Given the description of an element on the screen output the (x, y) to click on. 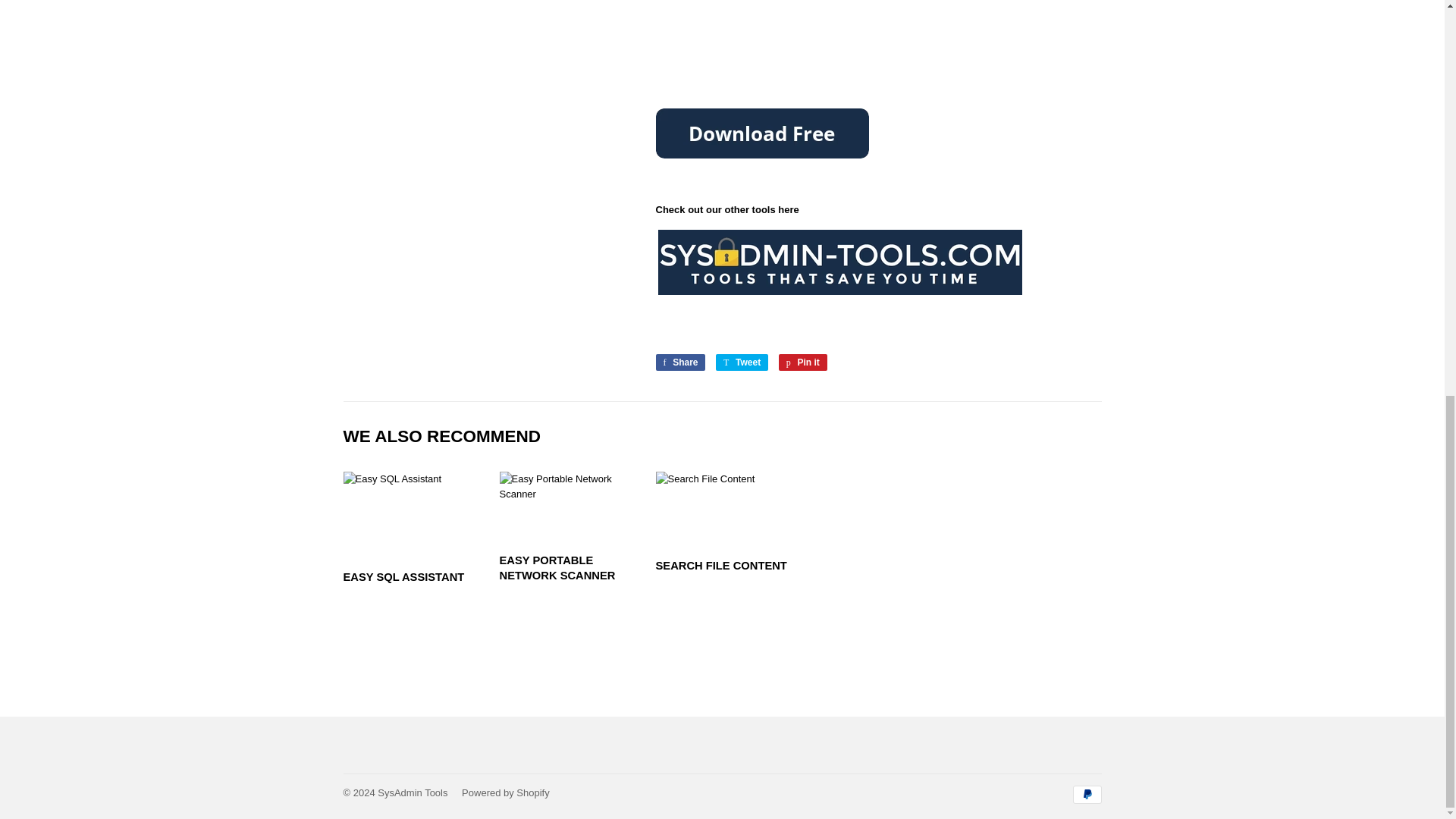
EASY PORTABLE NETWORK SCANNER (679, 362)
YouTube video player (565, 527)
Pin on Pinterest (877, 27)
Tweet on Twitter (802, 362)
Share on Facebook (742, 362)
PayPal (679, 362)
EASY SQL ASSISTANT (742, 362)
